Given the description of an element on the screen output the (x, y) to click on. 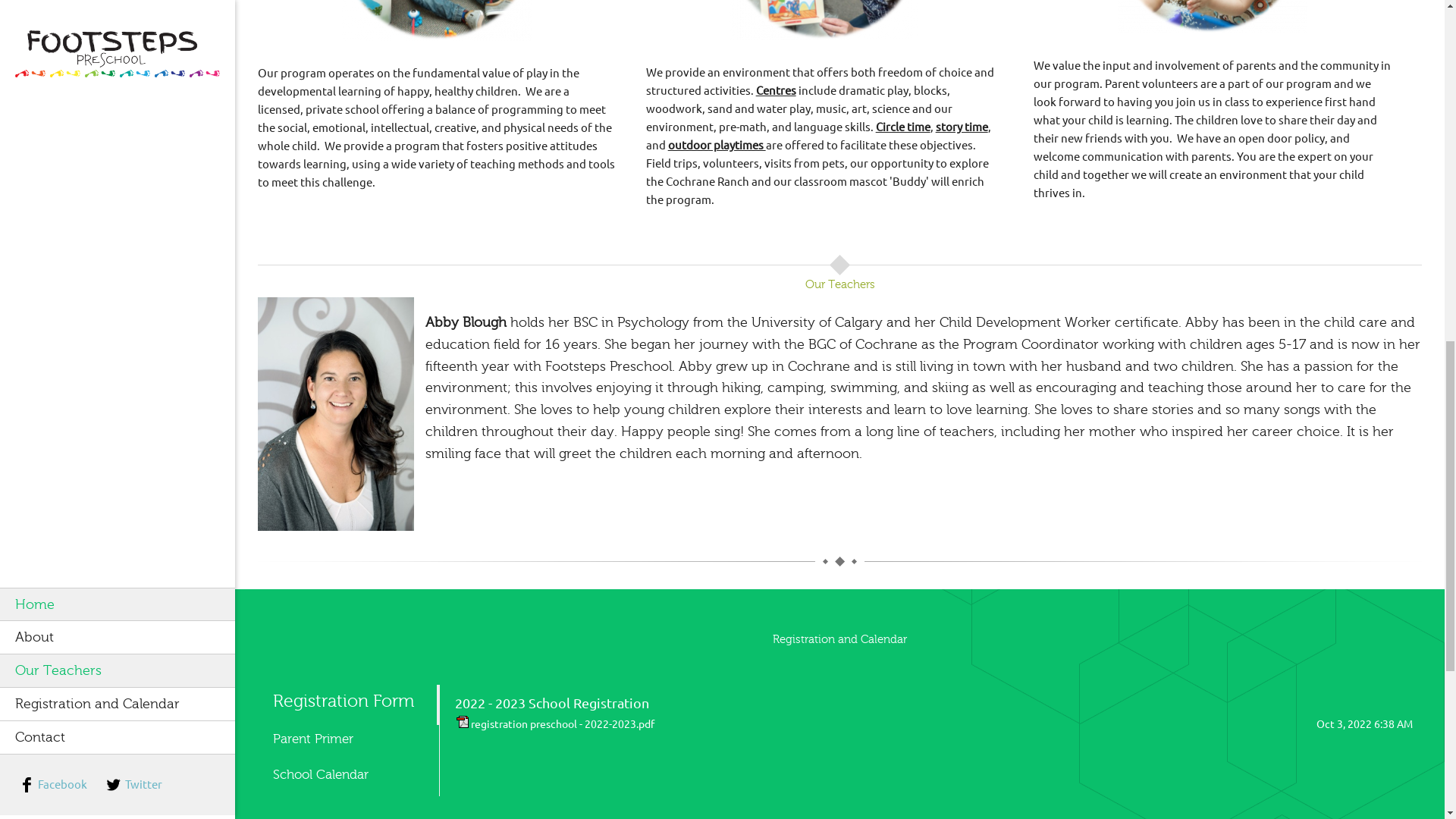
Parent Primer (343, 738)
registration preschool - 2022-2023.pdf (561, 724)
Registration Form (346, 700)
School Calendar (343, 774)
